Given the description of an element on the screen output the (x, y) to click on. 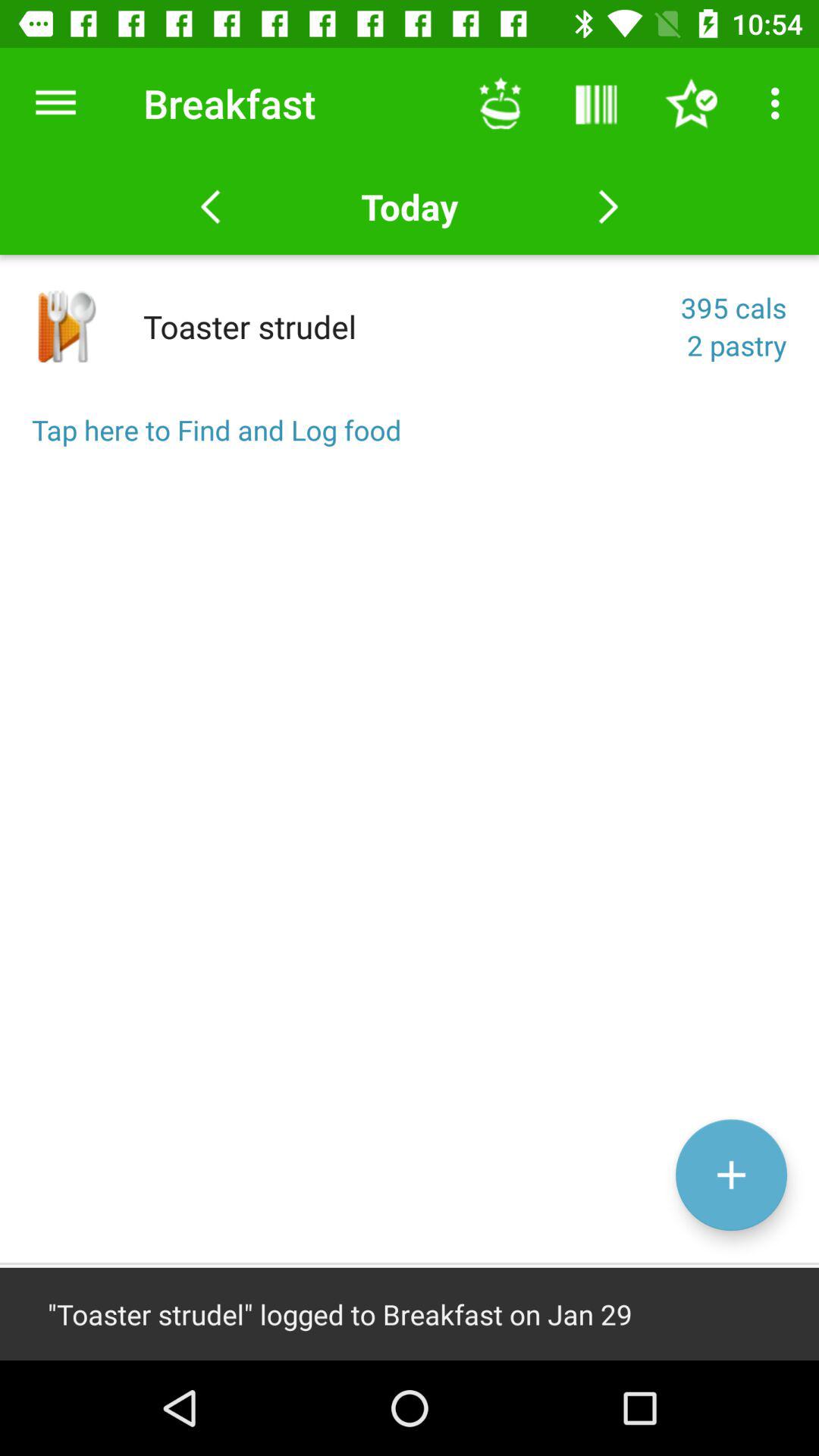
select the option today on the web page (409, 206)
click on the  icon in the bottom right (731, 1174)
click on the button which is next to the today (608, 206)
click the button on left to the star icon on the web page (595, 103)
